Given the description of an element on the screen output the (x, y) to click on. 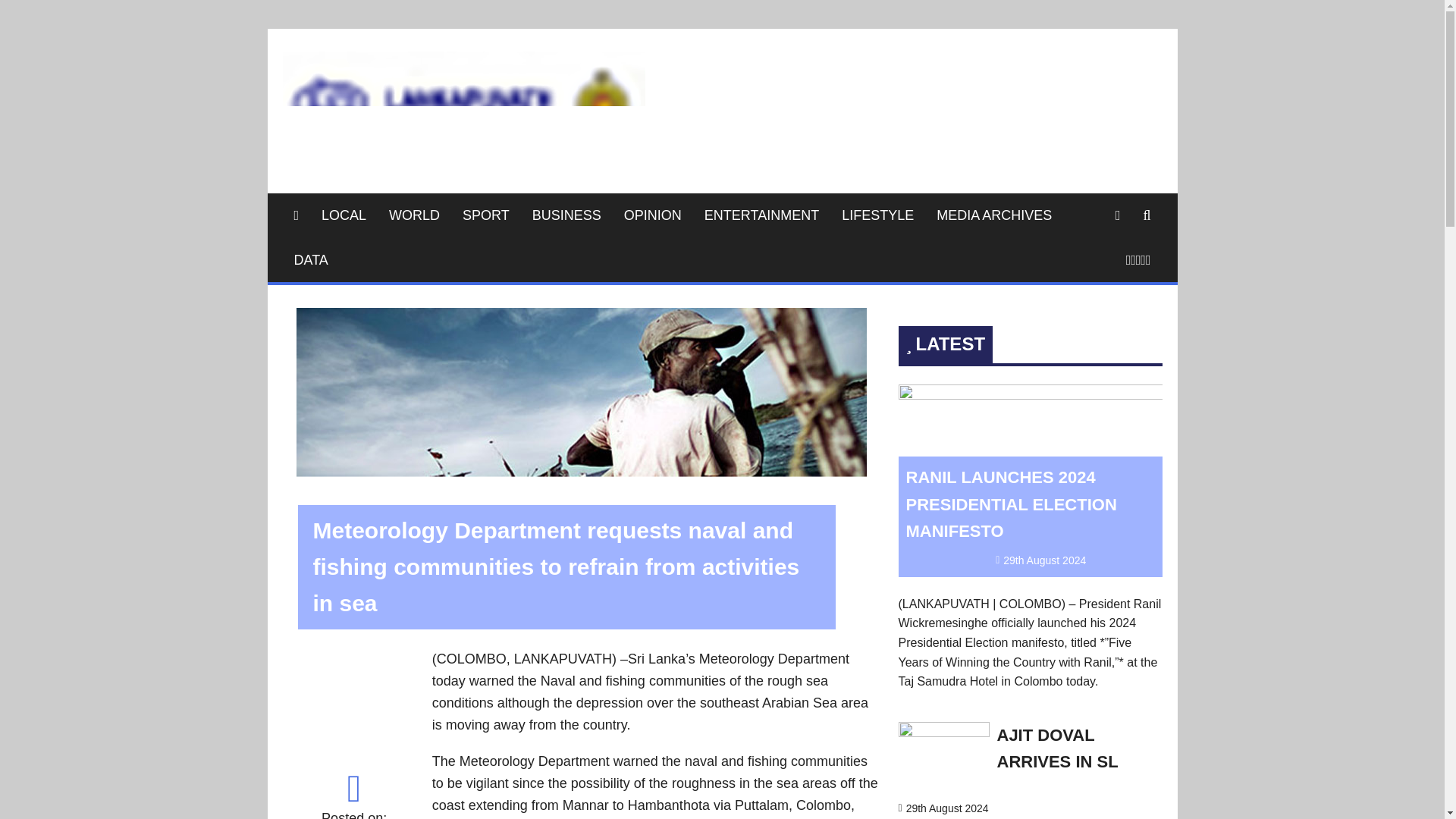
WORLD (414, 215)
Ajit Doval arrives in SL (943, 732)
DATA (310, 260)
SPORT (486, 215)
Ranil launches 2024 presidential election manifesto (1029, 394)
BUSINESS (566, 215)
LIFESTYLE (876, 215)
MEDIA ARCHIVES (993, 215)
